Given the description of an element on the screen output the (x, y) to click on. 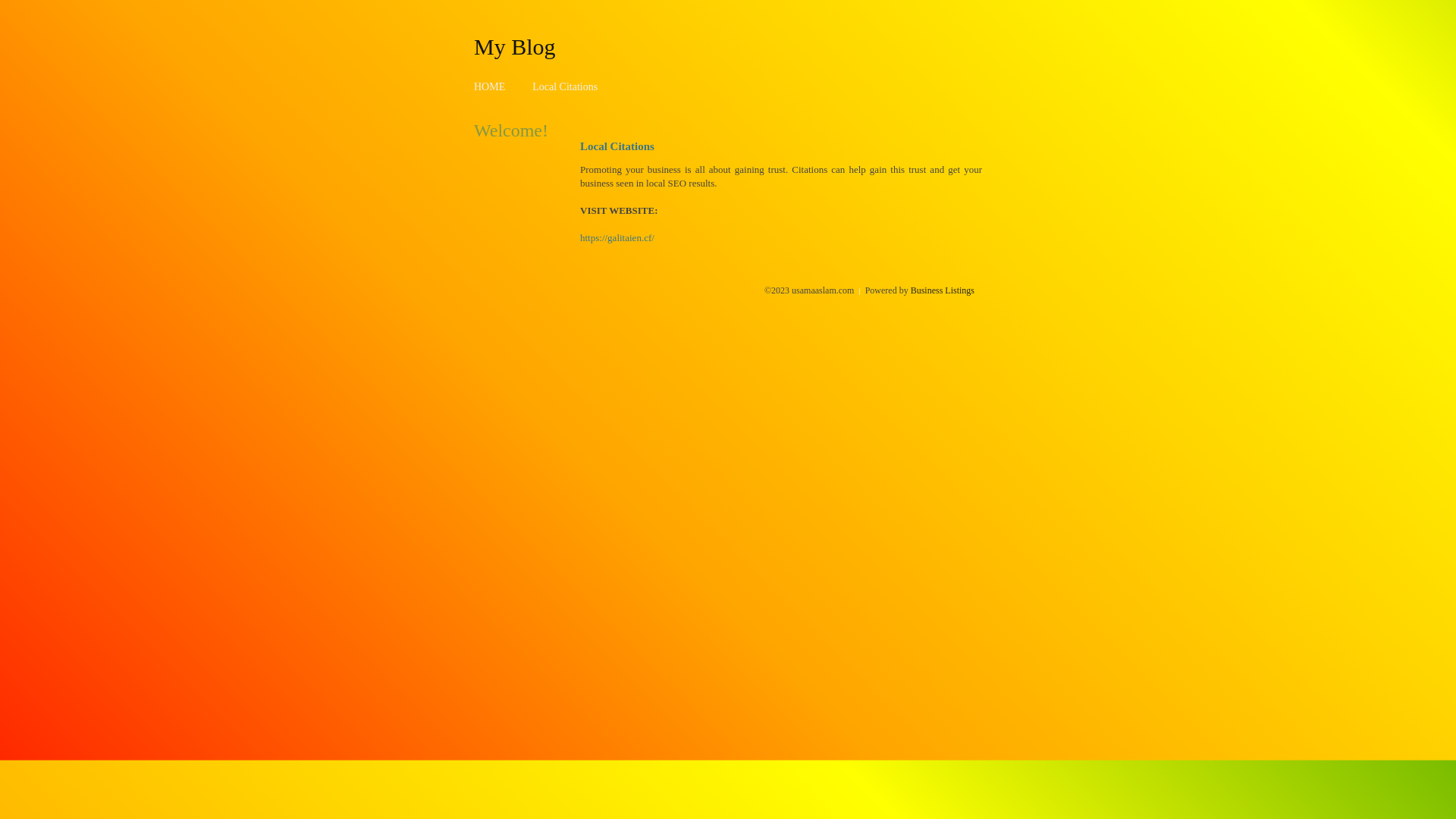
Local Citations Element type: text (564, 86)
https://galitaien.cf/ Element type: text (617, 237)
HOME Element type: text (489, 86)
Business Listings Element type: text (942, 290)
My Blog Element type: text (514, 46)
